Given the description of an element on the screen output the (x, y) to click on. 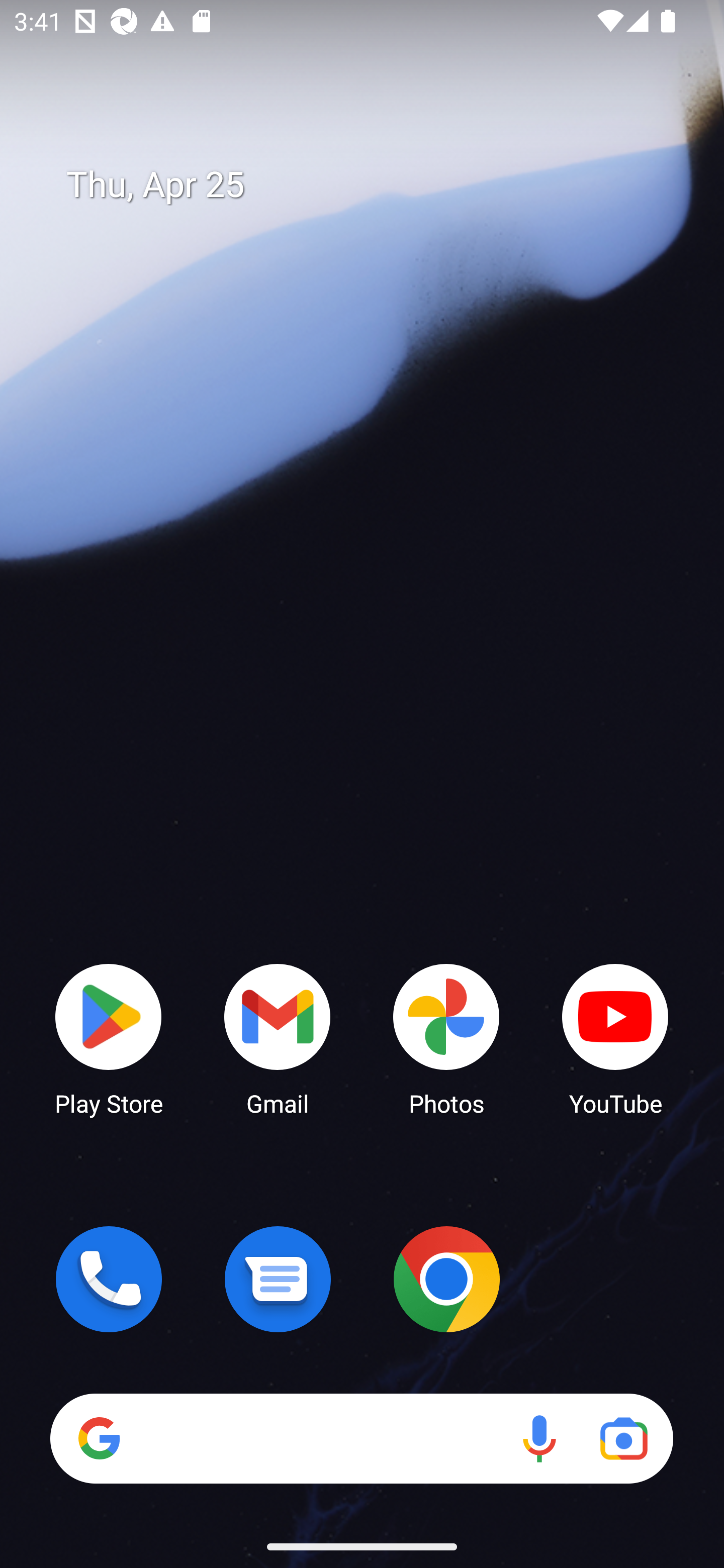
Thu, Apr 25 (375, 184)
Play Store (108, 1038)
Gmail (277, 1038)
Photos (445, 1038)
YouTube (615, 1038)
Phone (108, 1279)
Messages (277, 1279)
Chrome (446, 1279)
Search Voice search Google Lens (361, 1438)
Voice search (539, 1438)
Google Lens (623, 1438)
